Given the description of an element on the screen output the (x, y) to click on. 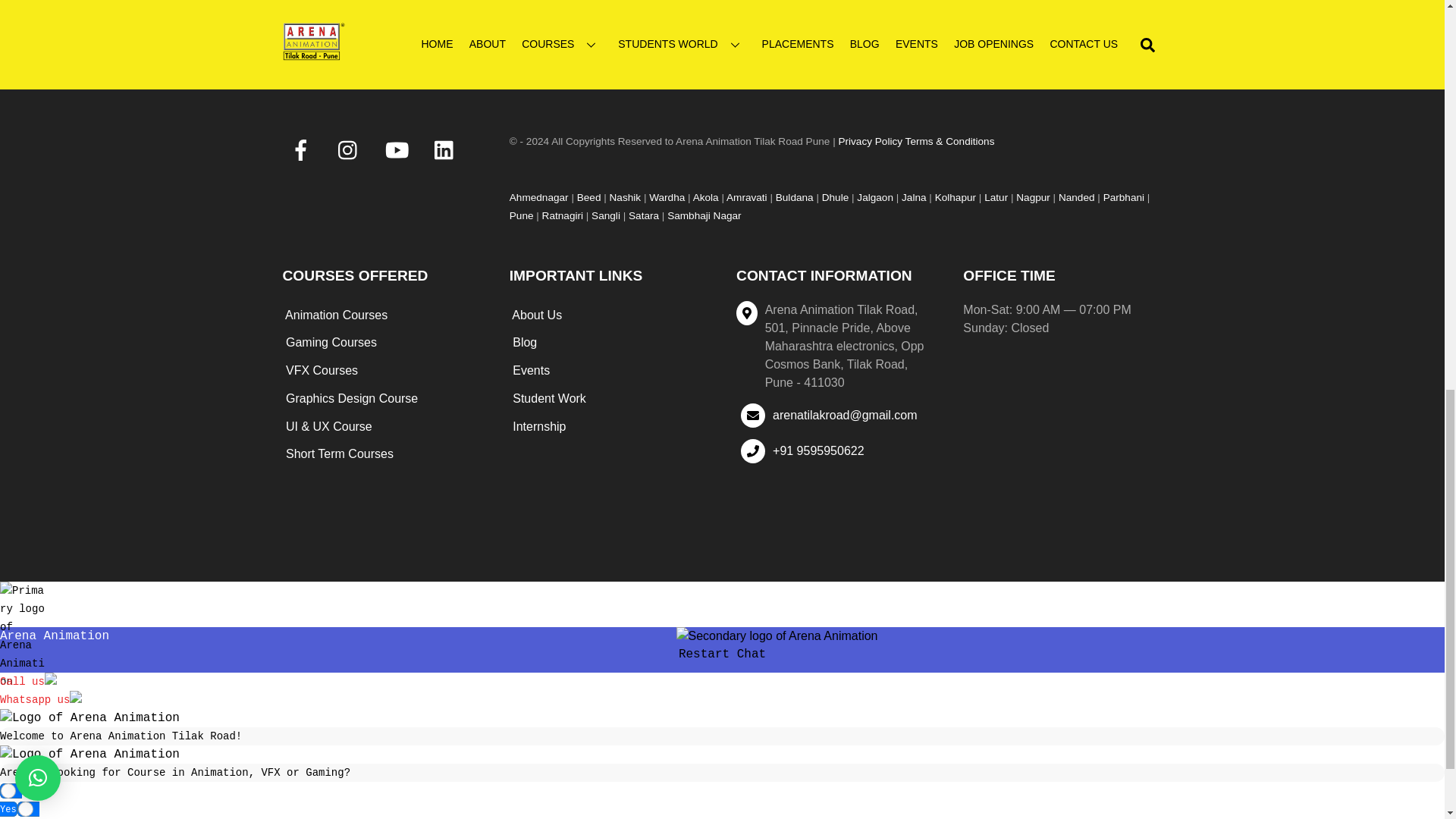
Contact redirection (40, 699)
No (25, 808)
Contact redirection (28, 681)
Yes (8, 790)
